Given the description of an element on the screen output the (x, y) to click on. 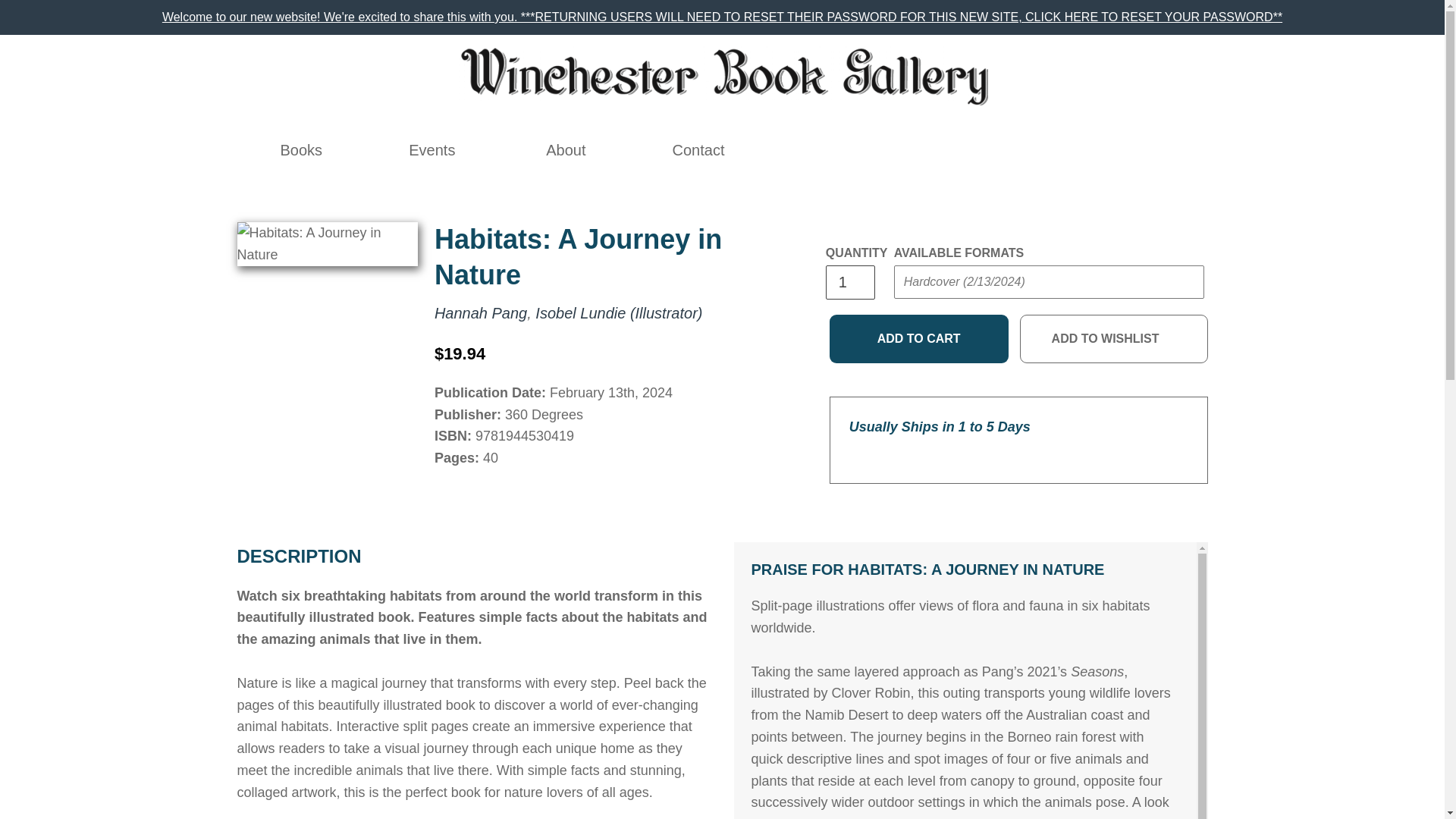
Add to cart (919, 338)
Contact (698, 150)
Search (989, 150)
Submit (1169, 137)
SEARCH (989, 150)
Wishlists (1055, 150)
Add to cart (919, 338)
Submit (922, 311)
Wishlist (1055, 150)
Log in (1022, 150)
Hannah Pang (480, 312)
1 (850, 282)
Log in (1022, 150)
Cart (1088, 150)
ADD TO WISHLIST (1114, 338)
